Given the description of an element on the screen output the (x, y) to click on. 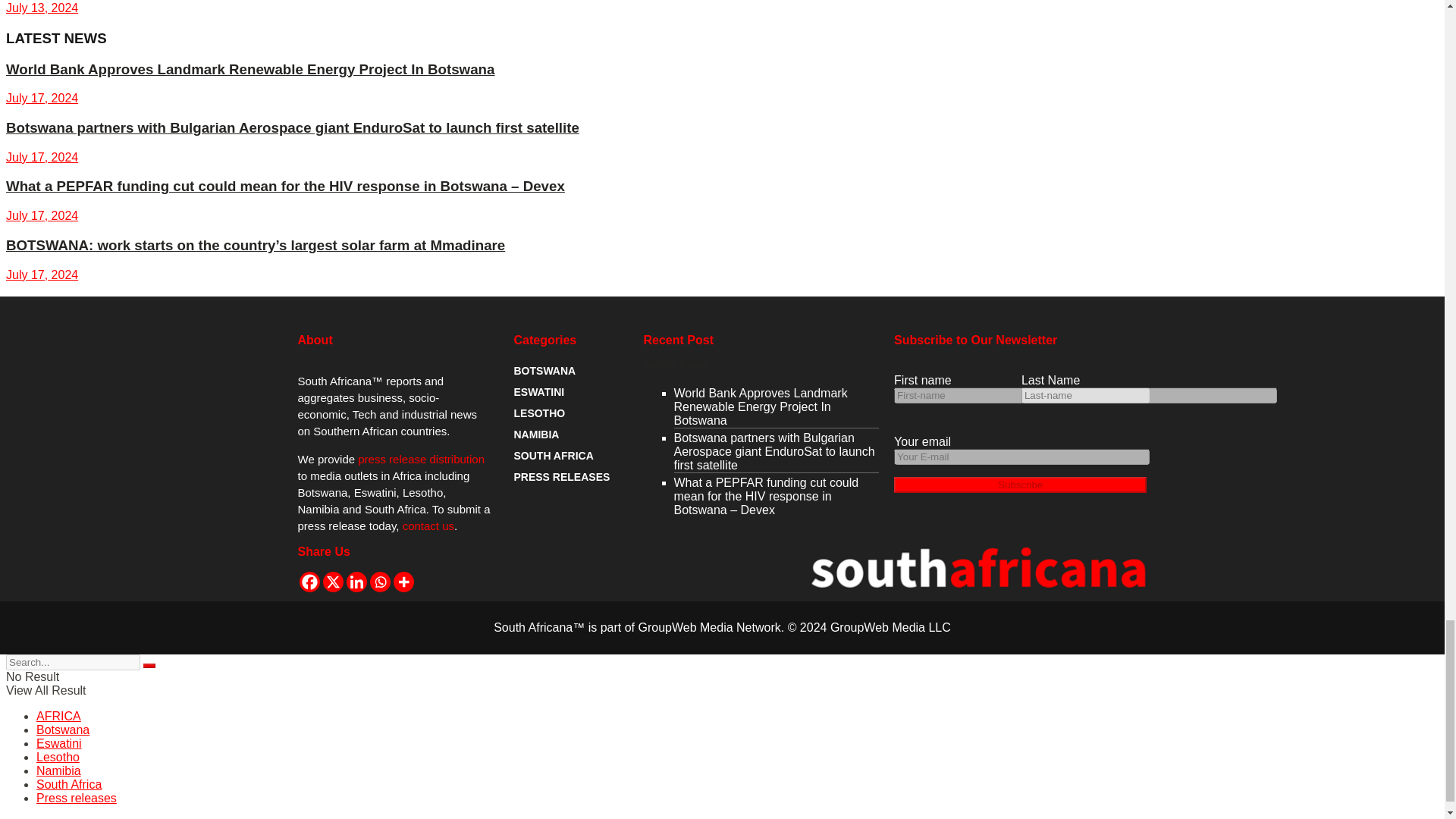
Subscribe (1020, 484)
More (403, 581)
X (333, 581)
Facebook (308, 581)
Linkedin (356, 581)
Whatsapp (379, 581)
